Given the description of an element on the screen output the (x, y) to click on. 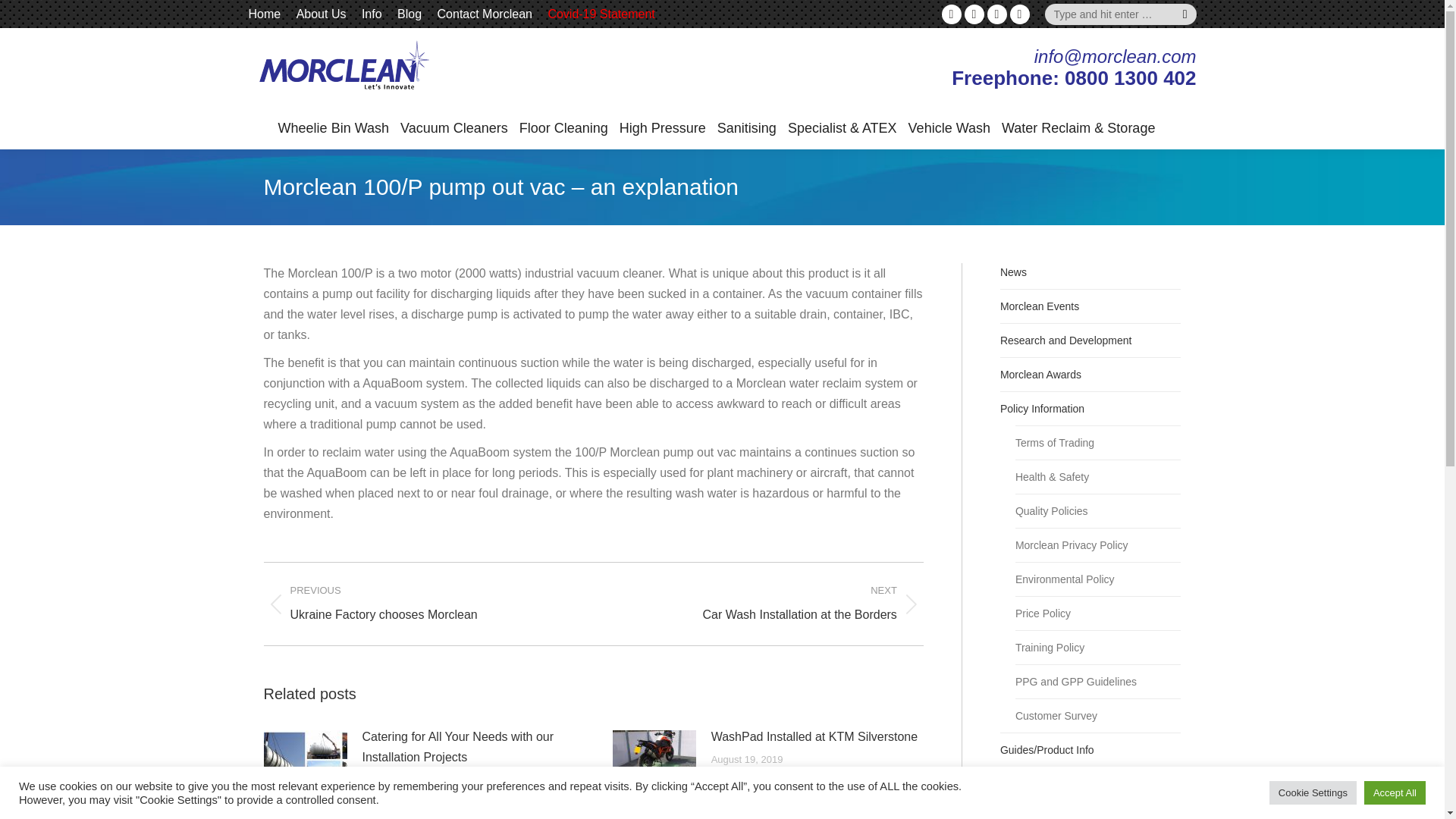
Wheelie Bin Wash (333, 128)
X page opens in new window (997, 14)
Info (371, 13)
Facebook page opens in new window (1019, 14)
Go! (24, 17)
Blog (409, 13)
Search form (1120, 14)
X page opens in new window (997, 14)
Linkedin page opens in new window (951, 14)
Contact Morclean (485, 13)
Linkedin page opens in new window (951, 14)
Home (264, 13)
About Us (321, 13)
Facebook page opens in new window (1019, 14)
YouTube page opens in new window (973, 14)
